Given the description of an element on the screen output the (x, y) to click on. 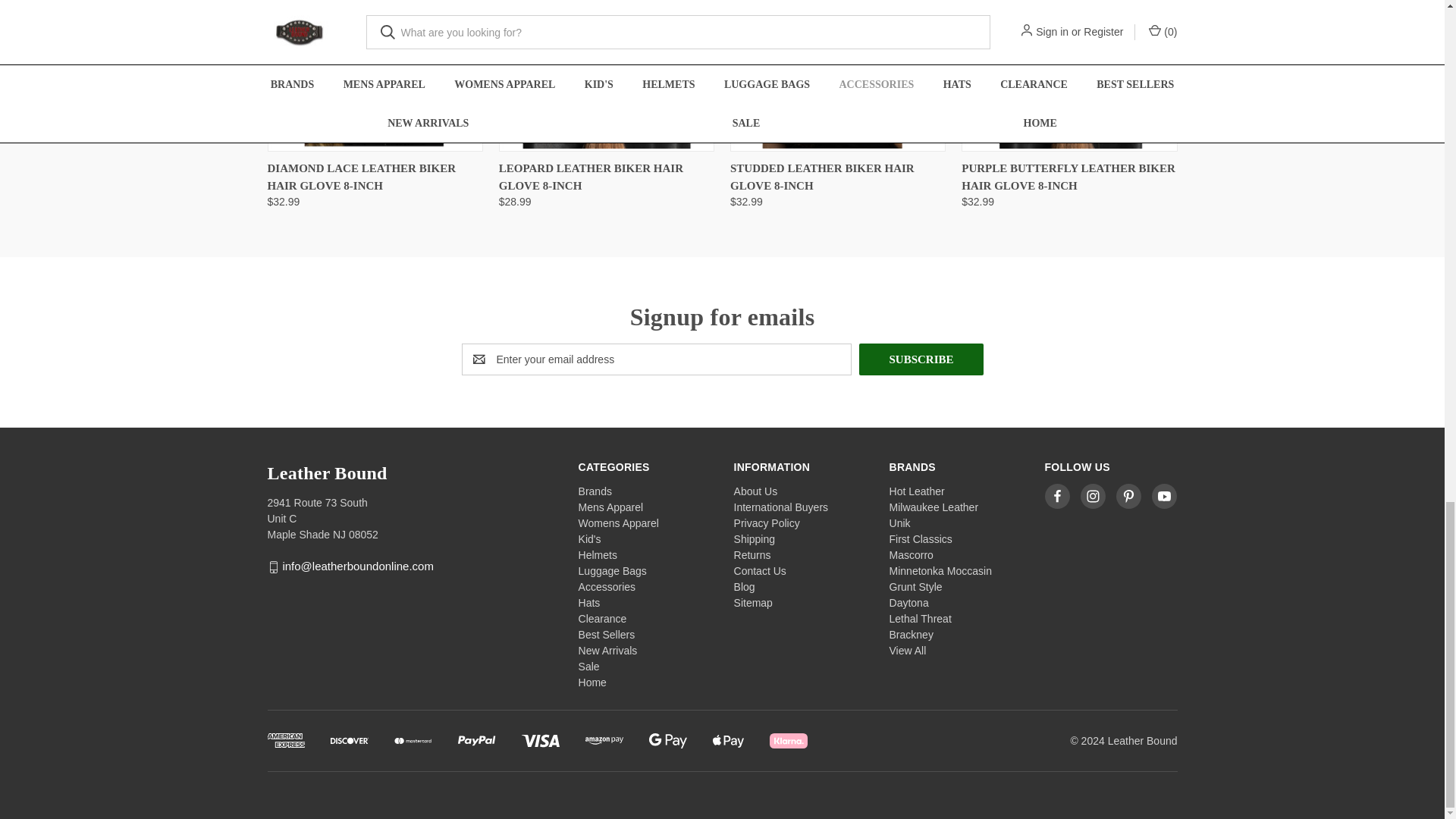
Studded Black Leather Biker Hair Glove 8-Inch (837, 74)
Leopard Print Leather Biker Hair Glove 8-Inch Hair Wrap (606, 74)
Subscribe (920, 359)
Diamond Lace Leather Biker Hair Glove 8-Inch (374, 74)
